Given the description of an element on the screen output the (x, y) to click on. 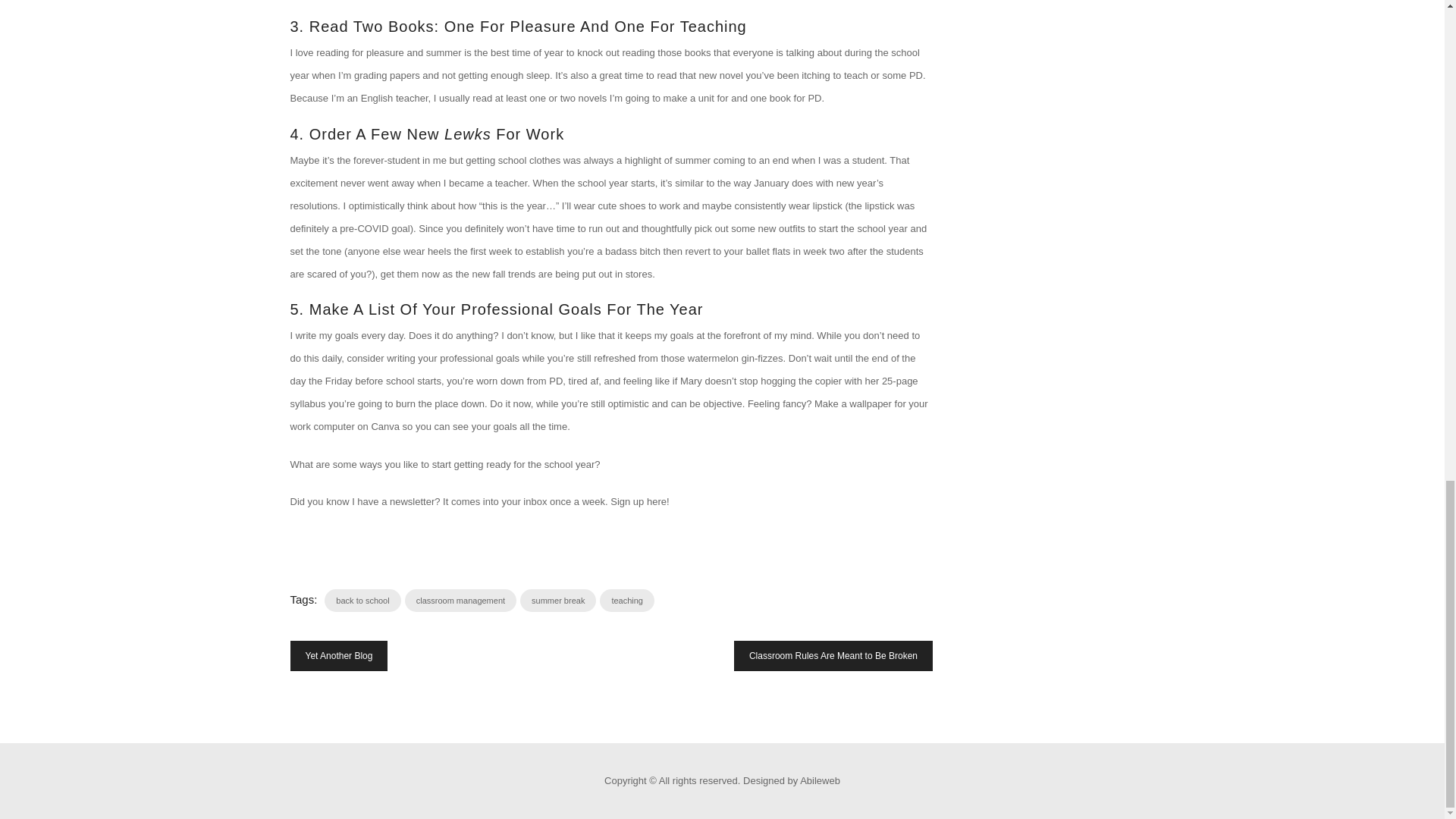
summer break (557, 599)
Yet Another Blog (338, 655)
back to school (362, 599)
Designed by Abileweb (791, 780)
Classroom Rules Are Meant to Be Broken (833, 655)
classroom management (460, 599)
here! (657, 501)
teaching (626, 599)
